Given the description of an element on the screen output the (x, y) to click on. 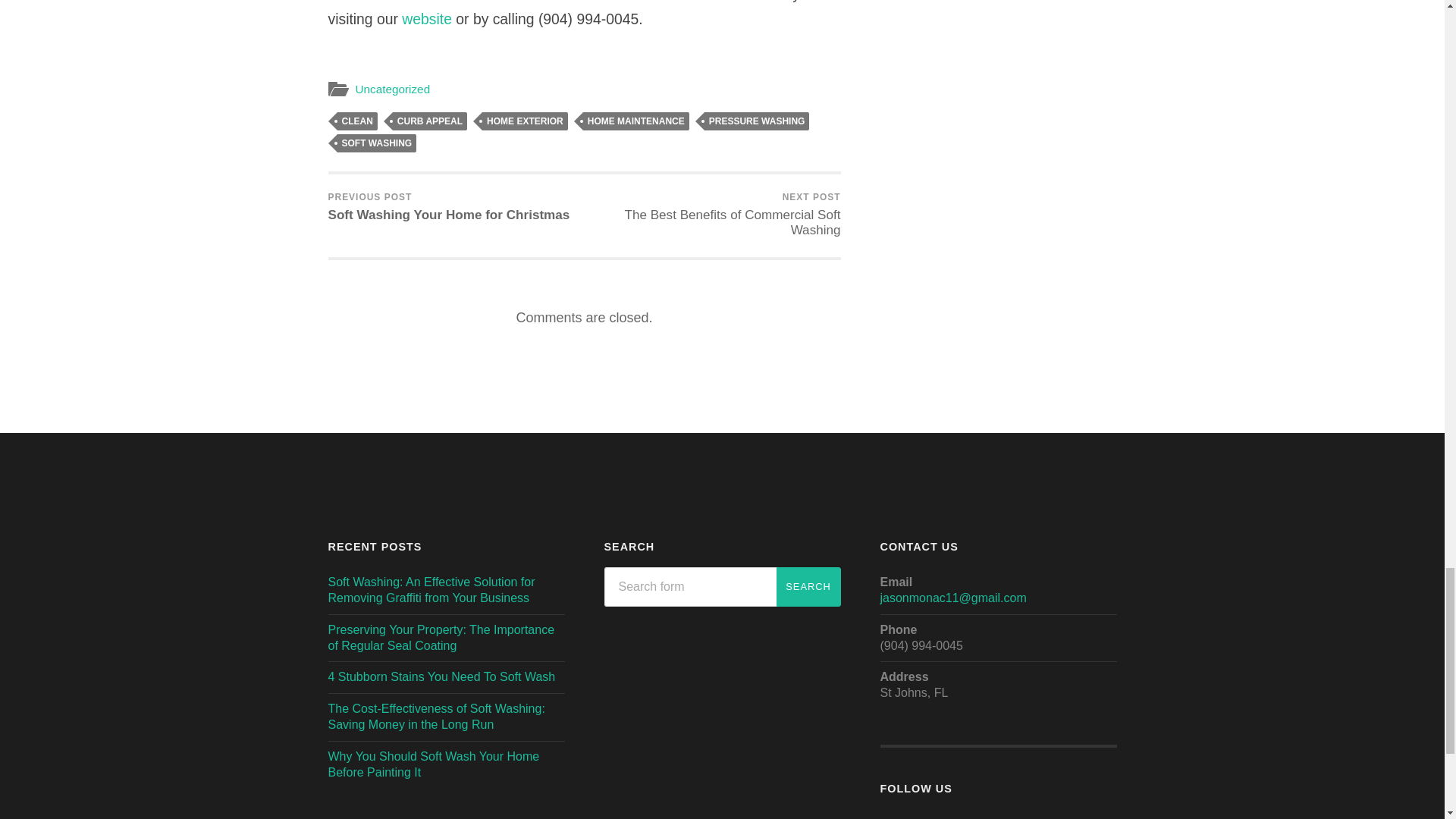
SOFT WASHING (376, 143)
Why You Should Soft Wash Your Home Before Painting It (432, 764)
Next post: (714, 215)
HOME EXTERIOR (524, 121)
CLEAN (356, 121)
HOME MAINTENANCE (635, 121)
Search (448, 207)
4 Stubborn Stains You Need To Soft Wash (808, 586)
Uncategorized (440, 676)
website (392, 88)
CURB APPEAL (426, 18)
